Given the description of an element on the screen output the (x, y) to click on. 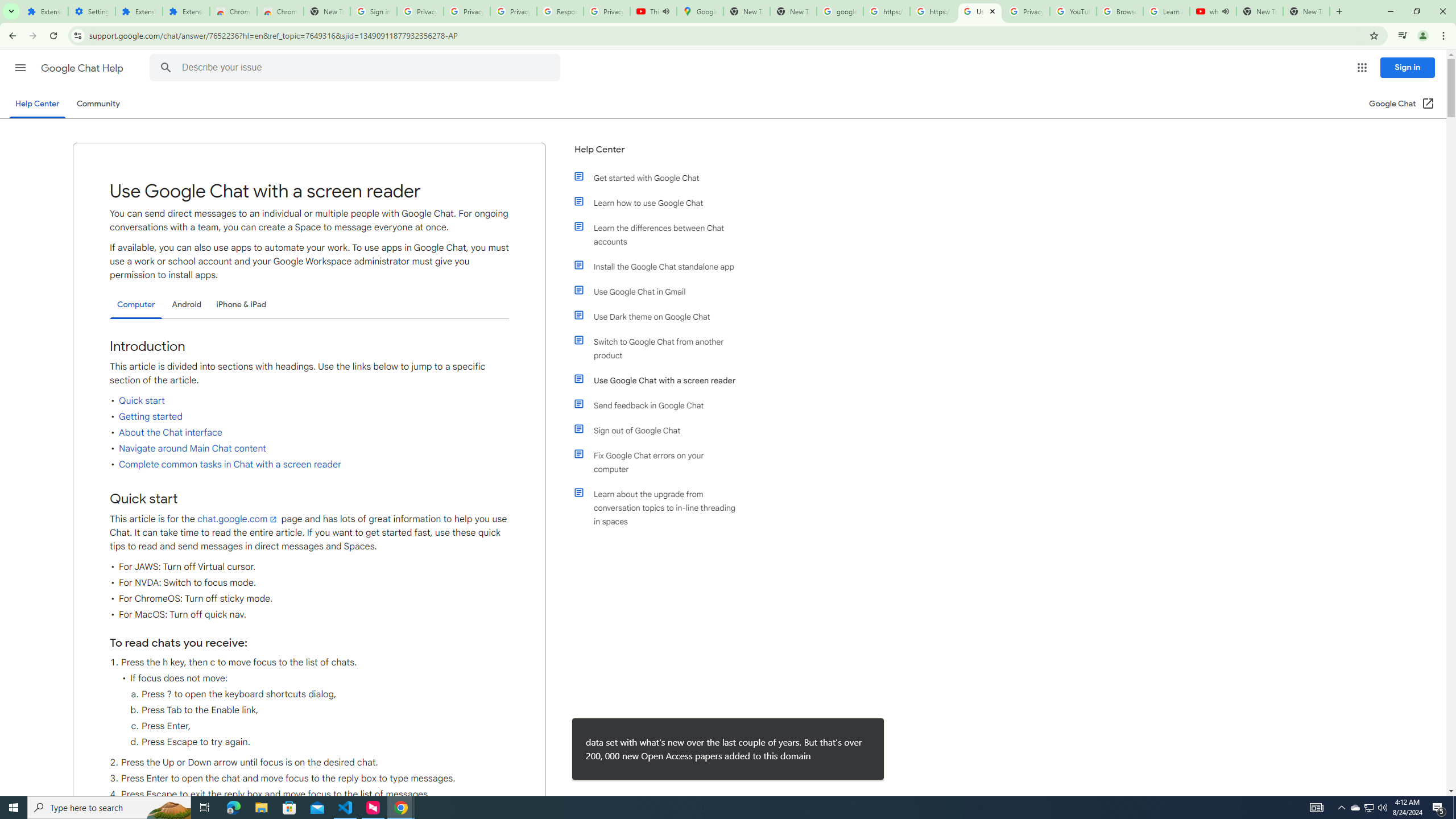
Install the Google Chat standalone app (661, 266)
Sign in - Google Accounts (373, 11)
Navigate around Main Chat content (192, 448)
chat.google.com (238, 518)
Use Dark theme on Google Chat (661, 316)
